Given the description of an element on the screen output the (x, y) to click on. 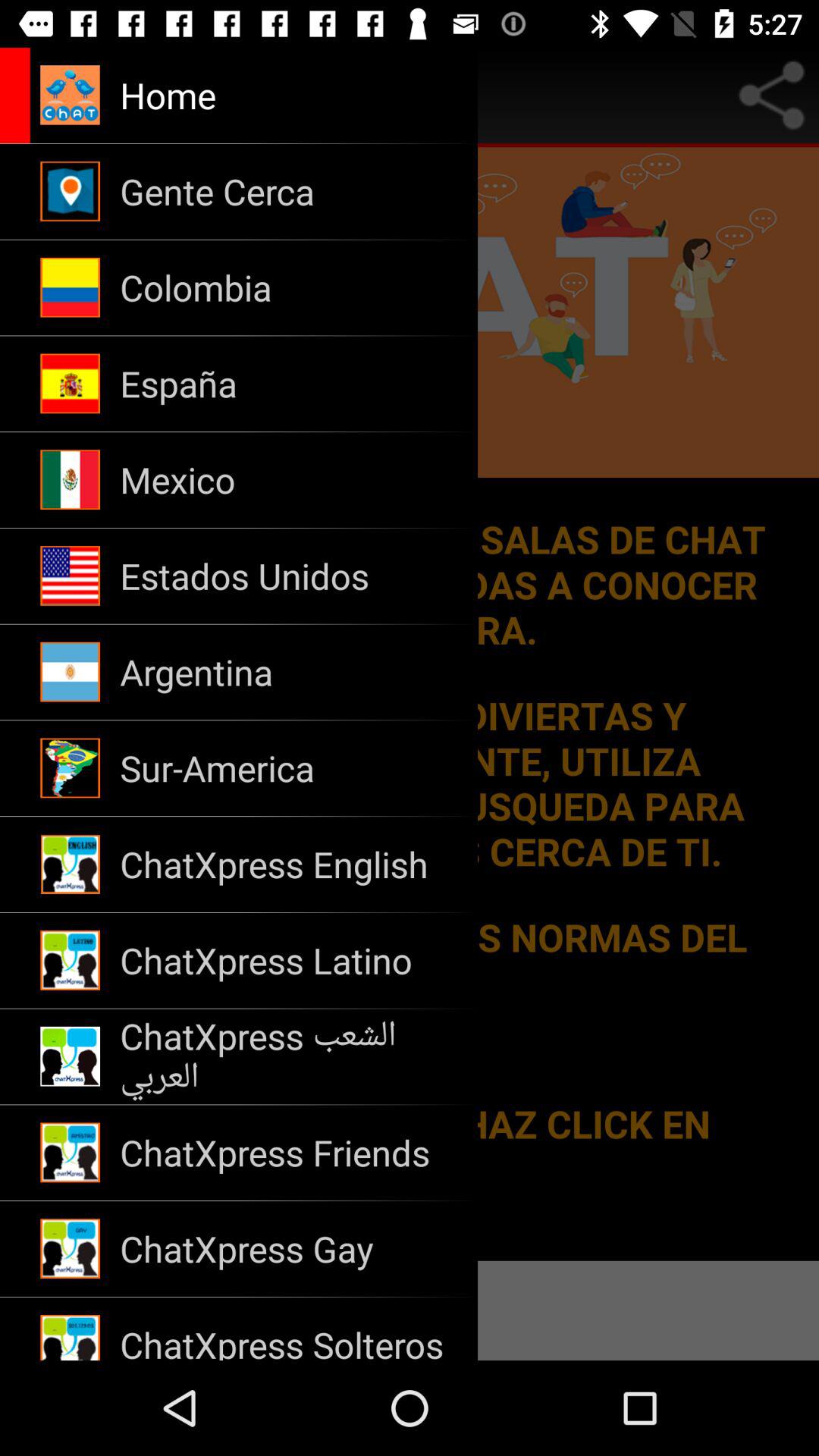
turn off icon above chatxpress gay item (288, 1152)
